Given the description of an element on the screen output the (x, y) to click on. 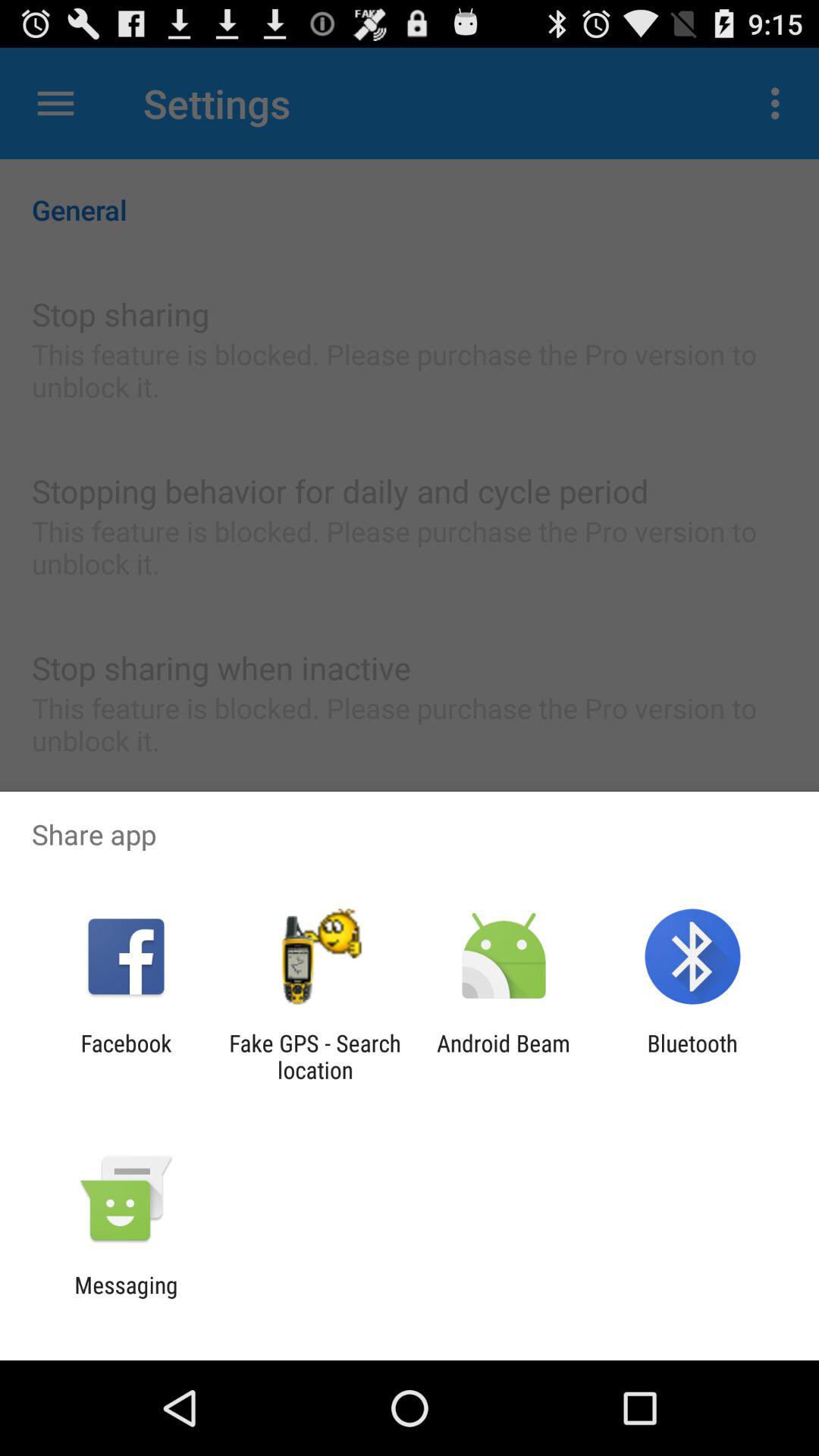
select app to the left of the fake gps search icon (125, 1056)
